Given the description of an element on the screen output the (x, y) to click on. 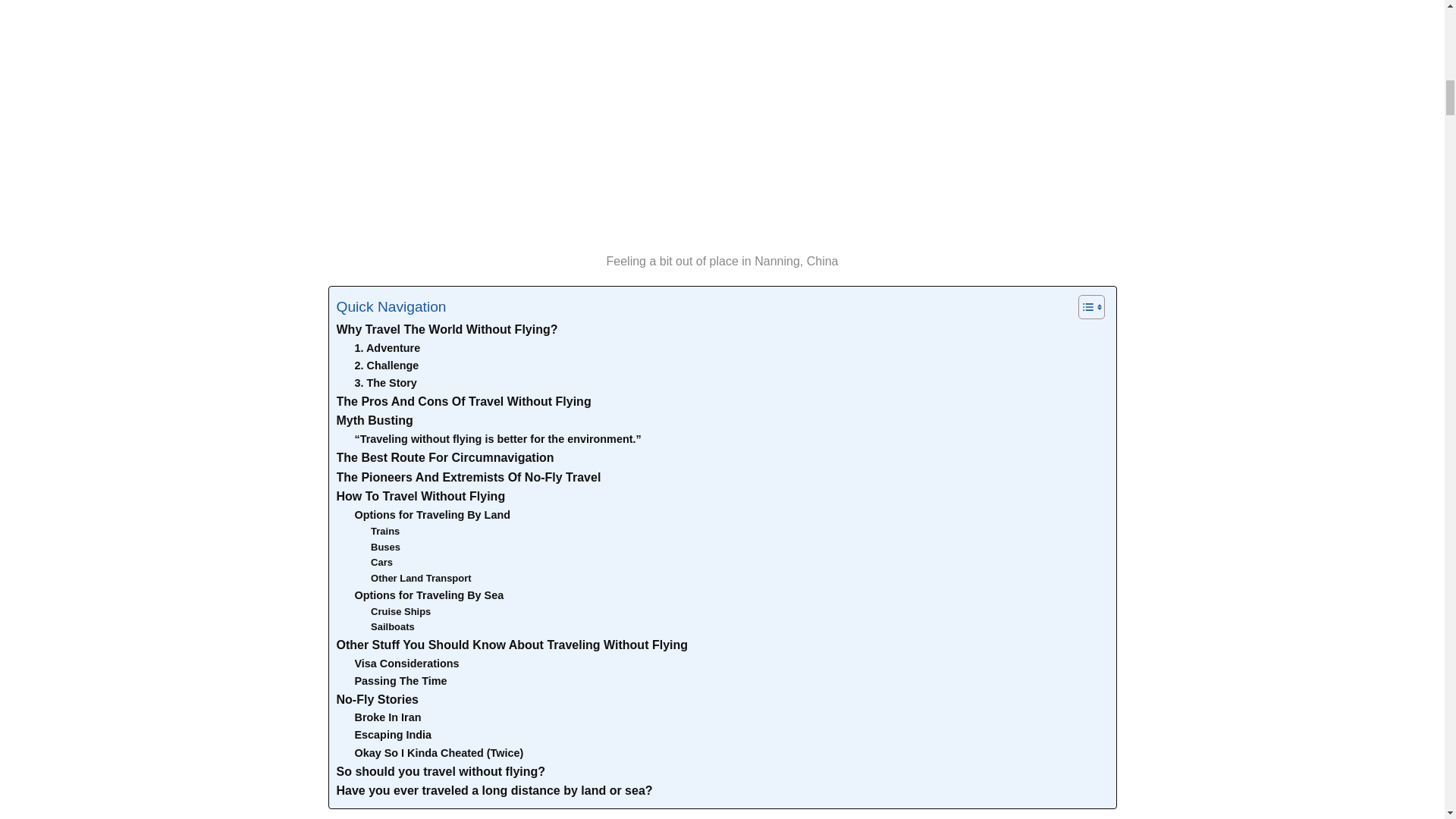
Trains (384, 531)
1. Adventure (387, 348)
Cars (382, 562)
Why Travel The World Without Flying? (446, 329)
The Pioneers And Extremists Of No-Fly Travel (468, 477)
Options for Traveling By Land (433, 515)
Buses (385, 547)
The Pros And Cons Of Travel Without Flying (463, 401)
3. The Story (385, 383)
How To Travel Without Flying (420, 496)
Myth Busting (374, 420)
2. Challenge (387, 365)
The Best Route For Circumnavigation (445, 457)
Other Land Transport (420, 578)
